Given the description of an element on the screen output the (x, y) to click on. 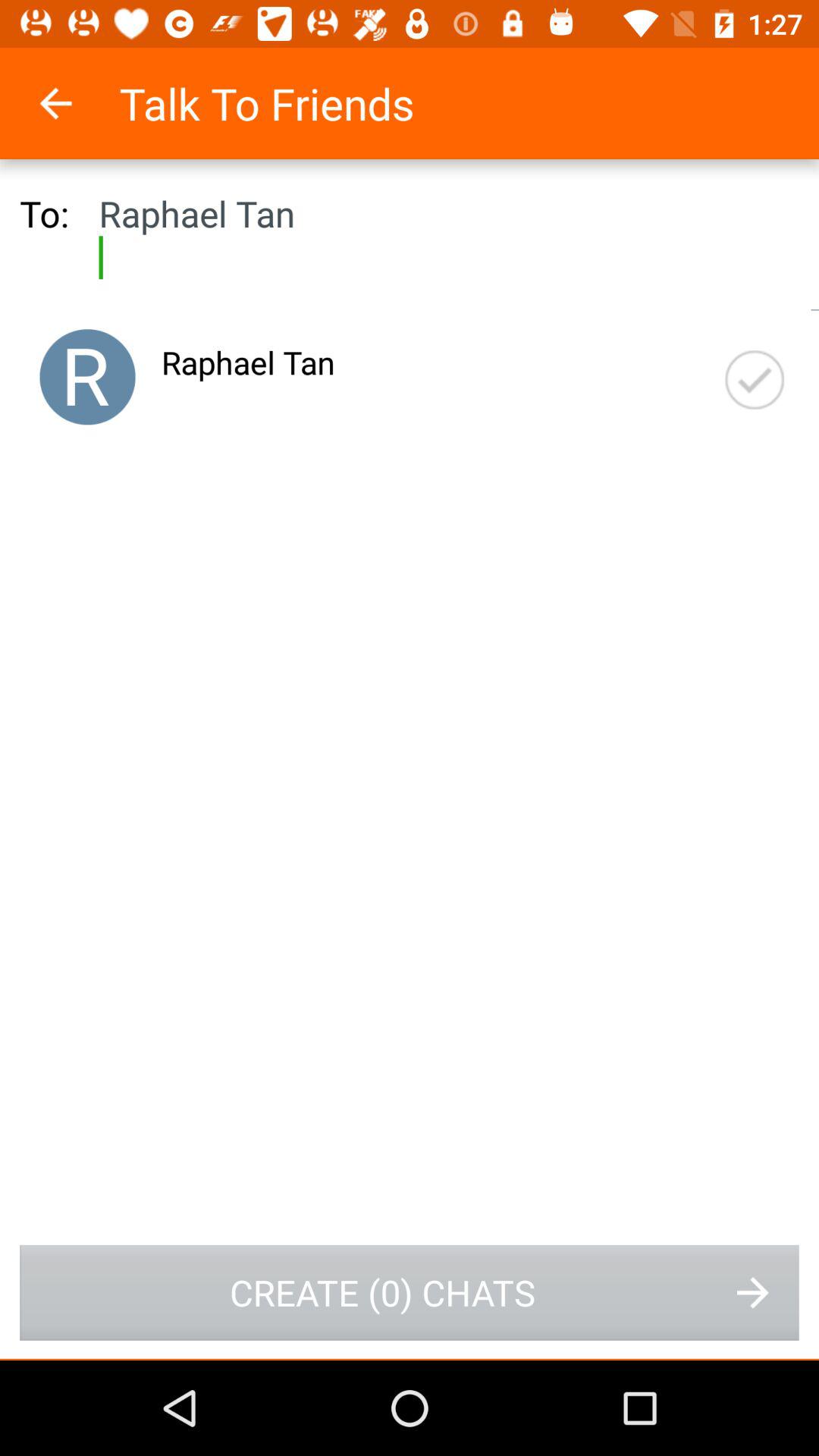
tap the item above the raphael tan
 item (75, 103)
